Given the description of an element on the screen output the (x, y) to click on. 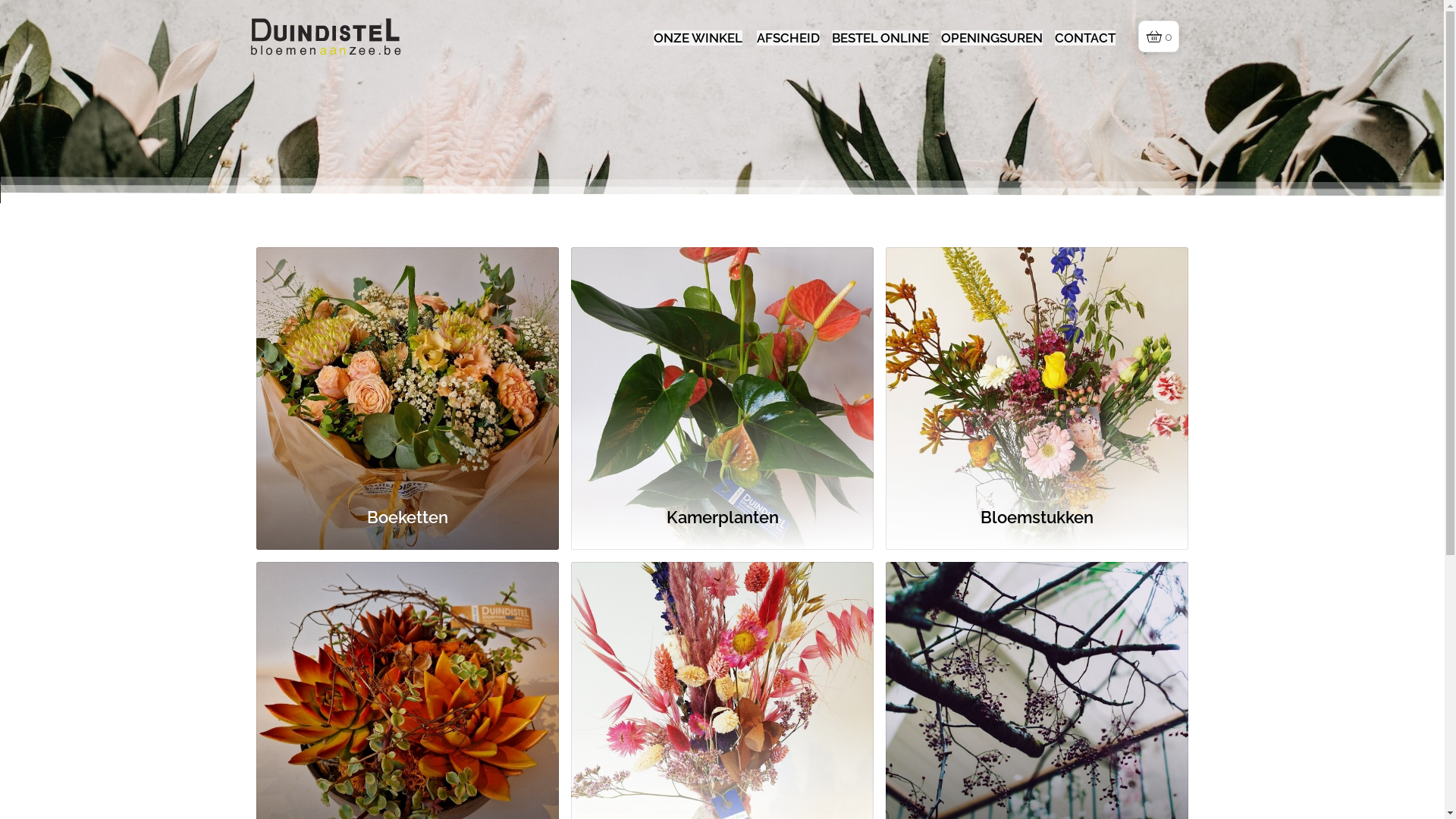
Bloemstukken Element type: text (1036, 519)
BESTEL ONLINE Element type: text (879, 37)
Afscheid Element type: hover (1036, 682)
CONTACT Element type: text (1084, 37)
AFSCHEID Element type: text (787, 37)
Plantencreaties Element type: hover (407, 682)
Boeketten Element type: hover (407, 368)
Kamerplanten Element type: hover (722, 368)
OPENINGSUREN Element type: text (991, 37)
Boeketten Element type: text (407, 519)
Bloemstukken Element type: hover (1036, 368)
Decoratie & sfeer Element type: hover (722, 682)
ONZE WINKEL Element type: text (697, 37)
Kamerplanten Element type: text (722, 519)
